Given the description of an element on the screen output the (x, y) to click on. 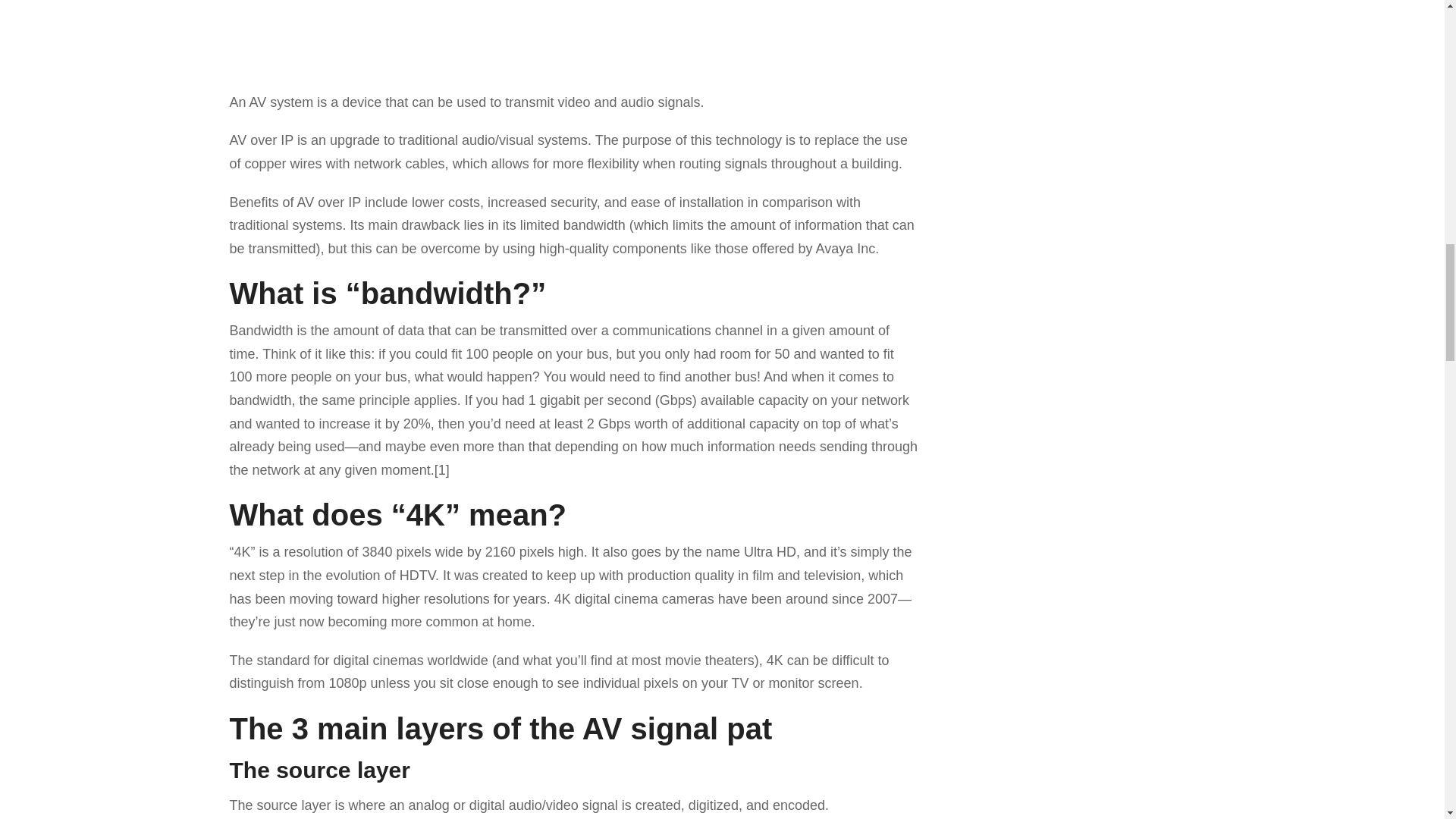
Traditional AV and AV over IP - t5 (571, 38)
